Given the description of an element on the screen output the (x, y) to click on. 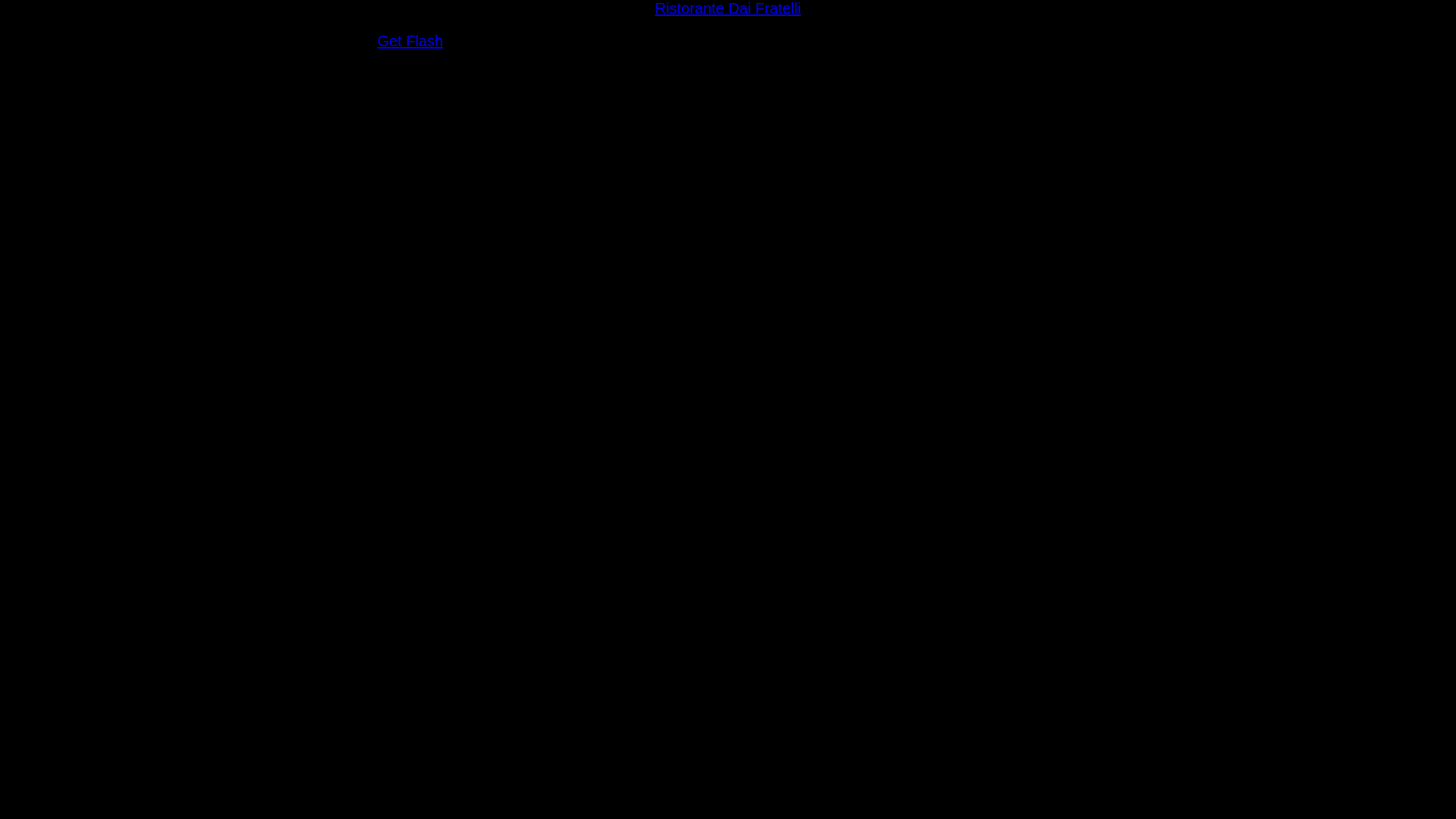
Ristorante Dai Fratelli Element type: text (727, 8)
Get Flash Element type: text (410, 40)
